Given the description of an element on the screen output the (x, y) to click on. 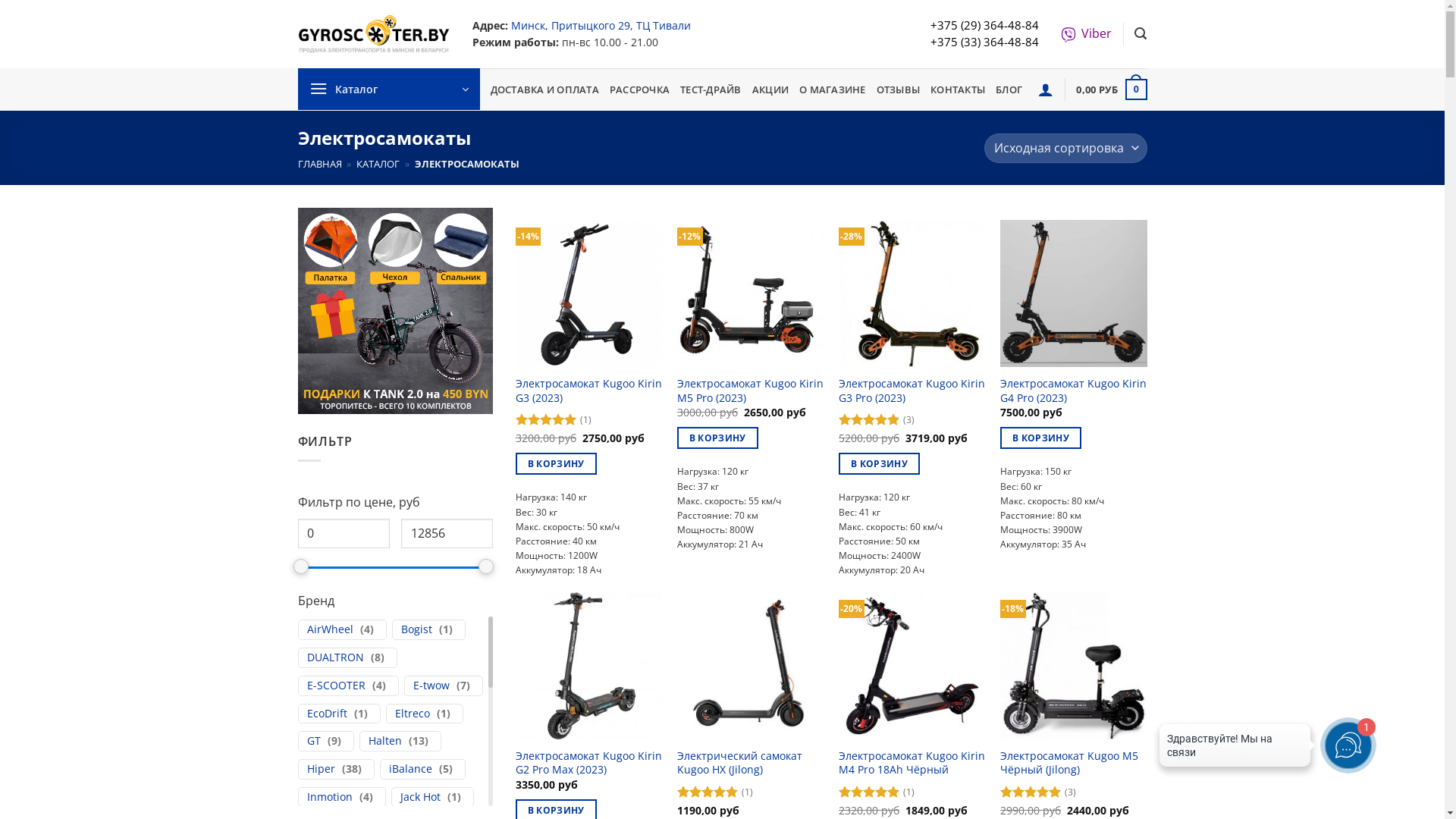
E-twow Element type: text (430, 685)
Eltreco Element type: text (411, 713)
GT Element type: text (313, 741)
+375 (33) 364-48-84 Element type: text (984, 41)
Viber Element type: text (1085, 33)
E-SCOOTER Element type: text (335, 685)
Halten Element type: text (384, 741)
Bogist Element type: text (415, 629)
+375 (29) 364-48-84 Element type: text (984, 24)
AirWheel Element type: text (329, 629)
Skip to content Element type: text (0, 0)
DUALTRON Element type: text (334, 657)
amoCRM Live Chat Element type: hover (1234, 749)
Hiper Element type: text (320, 769)
Jack Hot Element type: text (420, 797)
Inmotion Element type: text (328, 797)
iBalance Element type: text (409, 769)
EcoDrift Element type: text (326, 713)
